Given the description of an element on the screen output the (x, y) to click on. 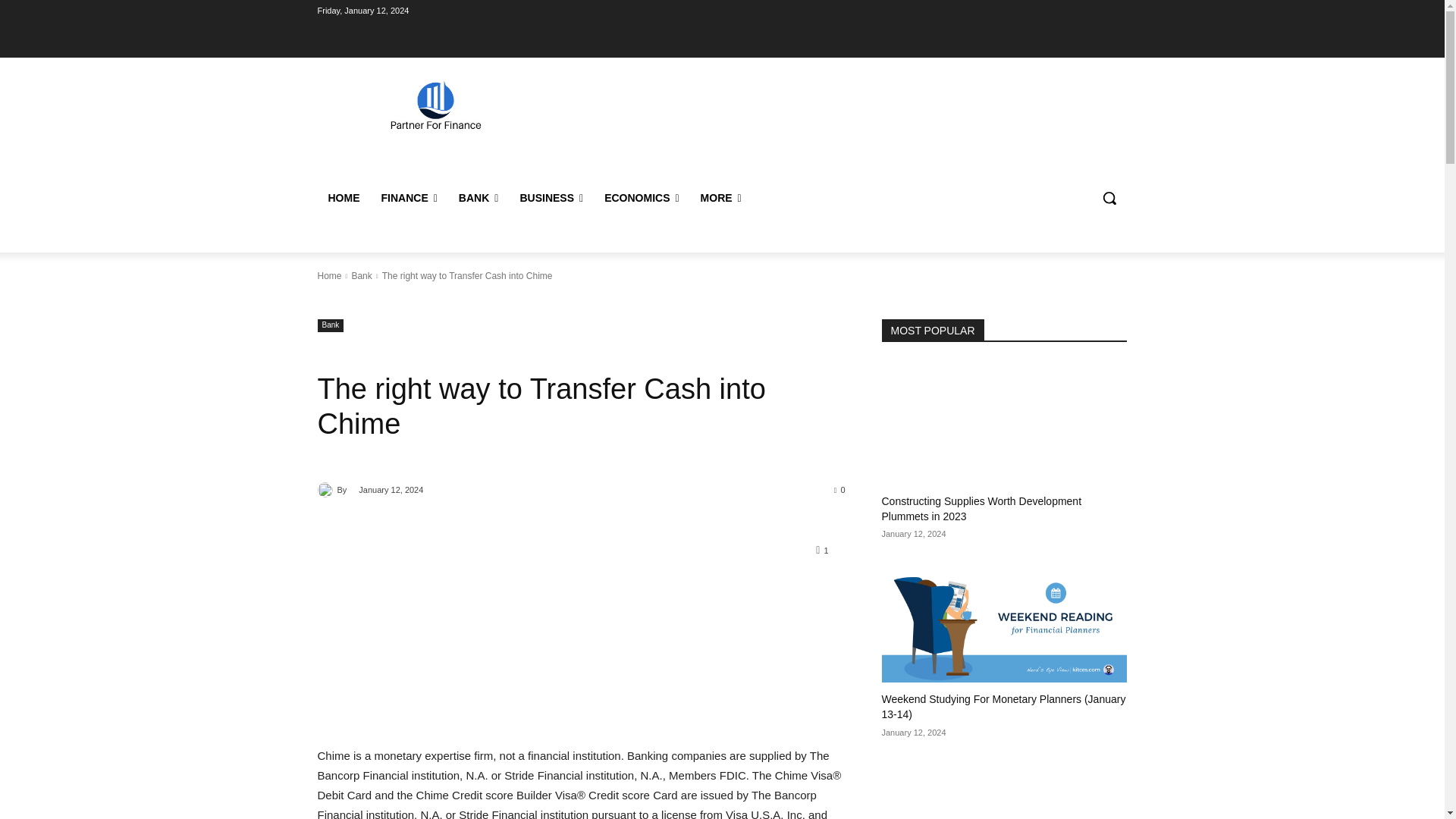
FINANCE (407, 197)
HOME (343, 197)
BANK (478, 197)
View all posts in Bank (360, 276)
